Given the description of an element on the screen output the (x, y) to click on. 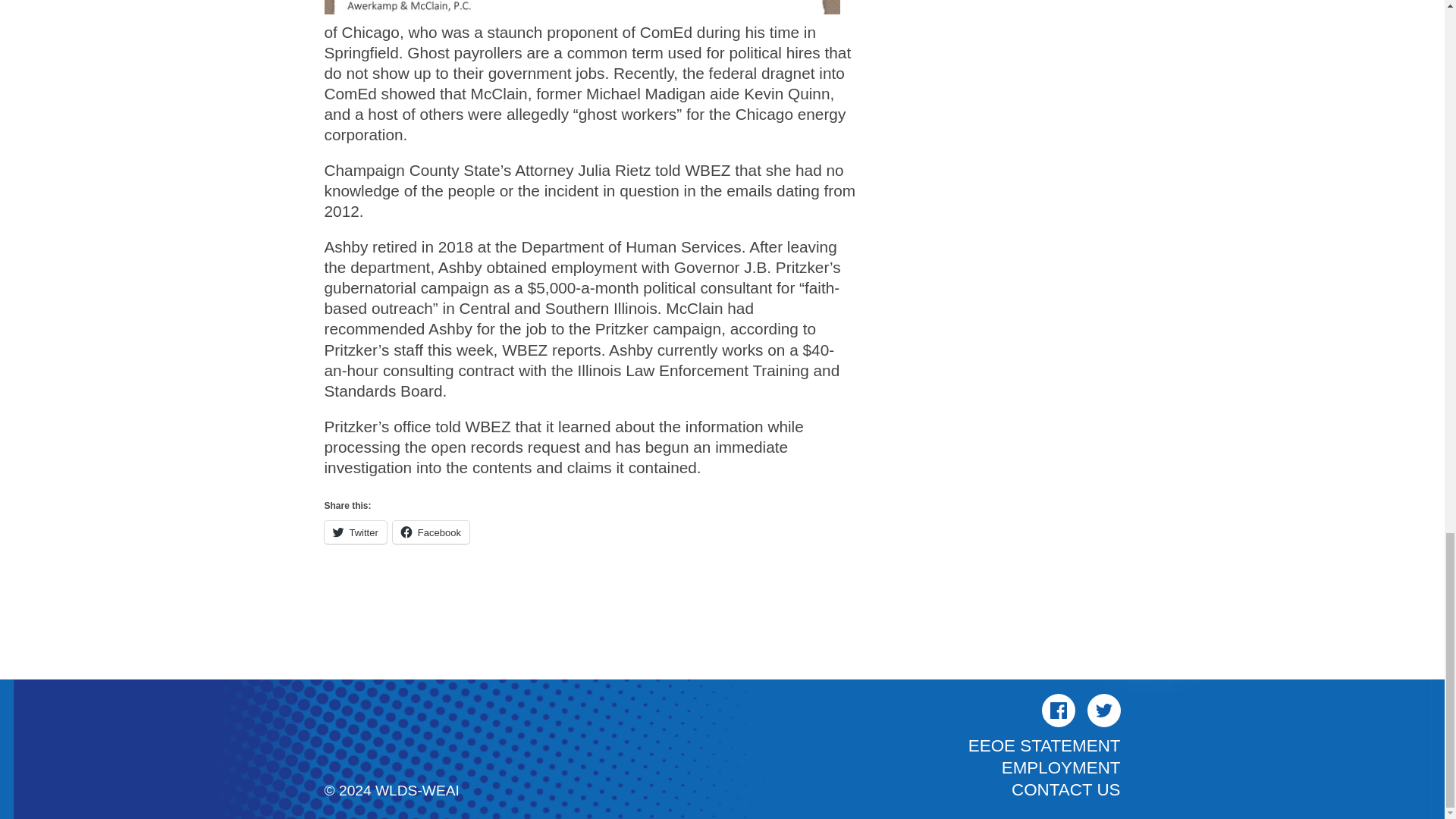
EEOE STATEMENT (1044, 745)
Click to share on Twitter (355, 531)
Facebook (1058, 710)
CONTACT US (1065, 789)
Twitter (355, 531)
Click to share on Facebook (430, 531)
Facebook (430, 531)
Twitter (1104, 710)
EMPLOYMENT (1061, 767)
